Given the description of an element on the screen output the (x, y) to click on. 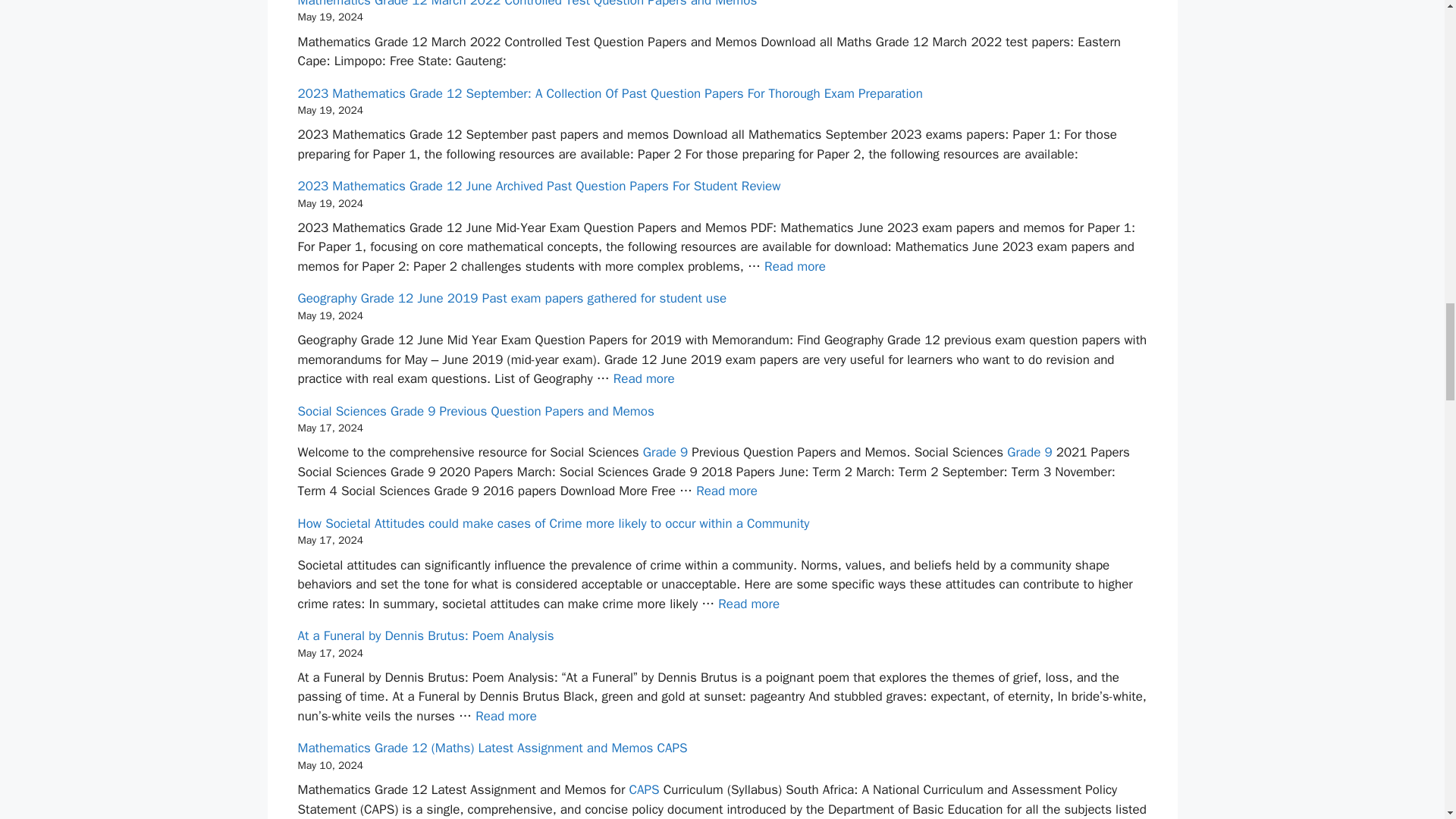
Social Sciences Grade 9 Previous Question Papers and Memos (726, 490)
Grade 9 Study Resources (1029, 452)
Grade 9 Study Resources (665, 452)
